Given the description of an element on the screen output the (x, y) to click on. 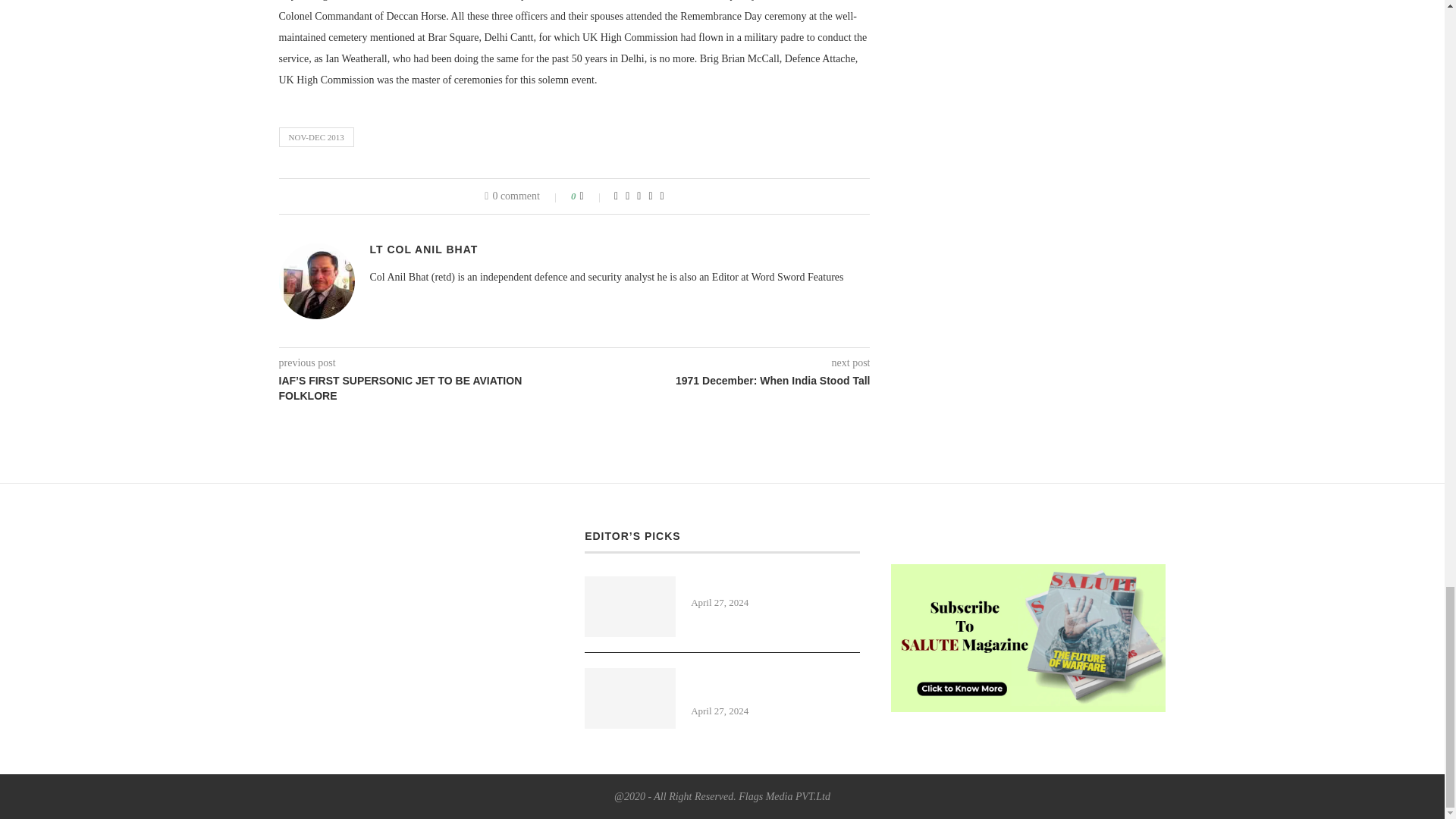
Like (591, 196)
CONTACT US (925, 535)
1971 December: When India Stood Tall (722, 381)
NOV-DEC 2013 (316, 137)
LT COL ANIL BHAT (424, 249)
How China Took Over Tibet (630, 606)
How China Took Over Tibet (775, 584)
How China Took Over Tibet (775, 584)
Author Lt Col Anil Bhat (424, 249)
